Given the description of an element on the screen output the (x, y) to click on. 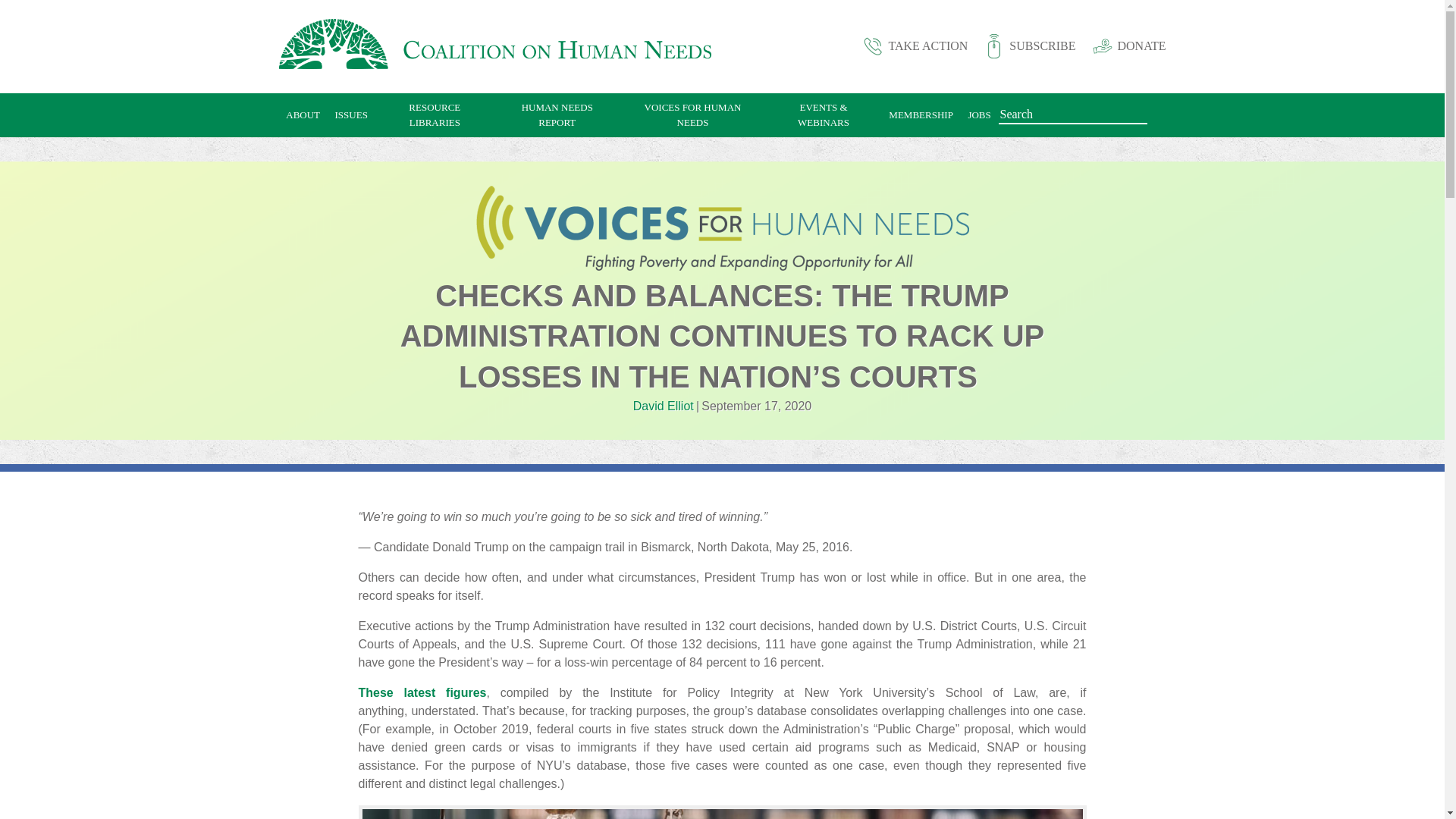
RESOURCE LIBRARIES (435, 115)
Posts by David Elliot (663, 405)
David Elliot (663, 405)
MEMBERSHIP (921, 115)
These latest figures (422, 692)
ISSUES (351, 115)
VOICES FOR HUMAN NEEDS (692, 115)
ABOUT (303, 115)
HUMAN NEEDS REPORT (557, 115)
